Given the description of an element on the screen output the (x, y) to click on. 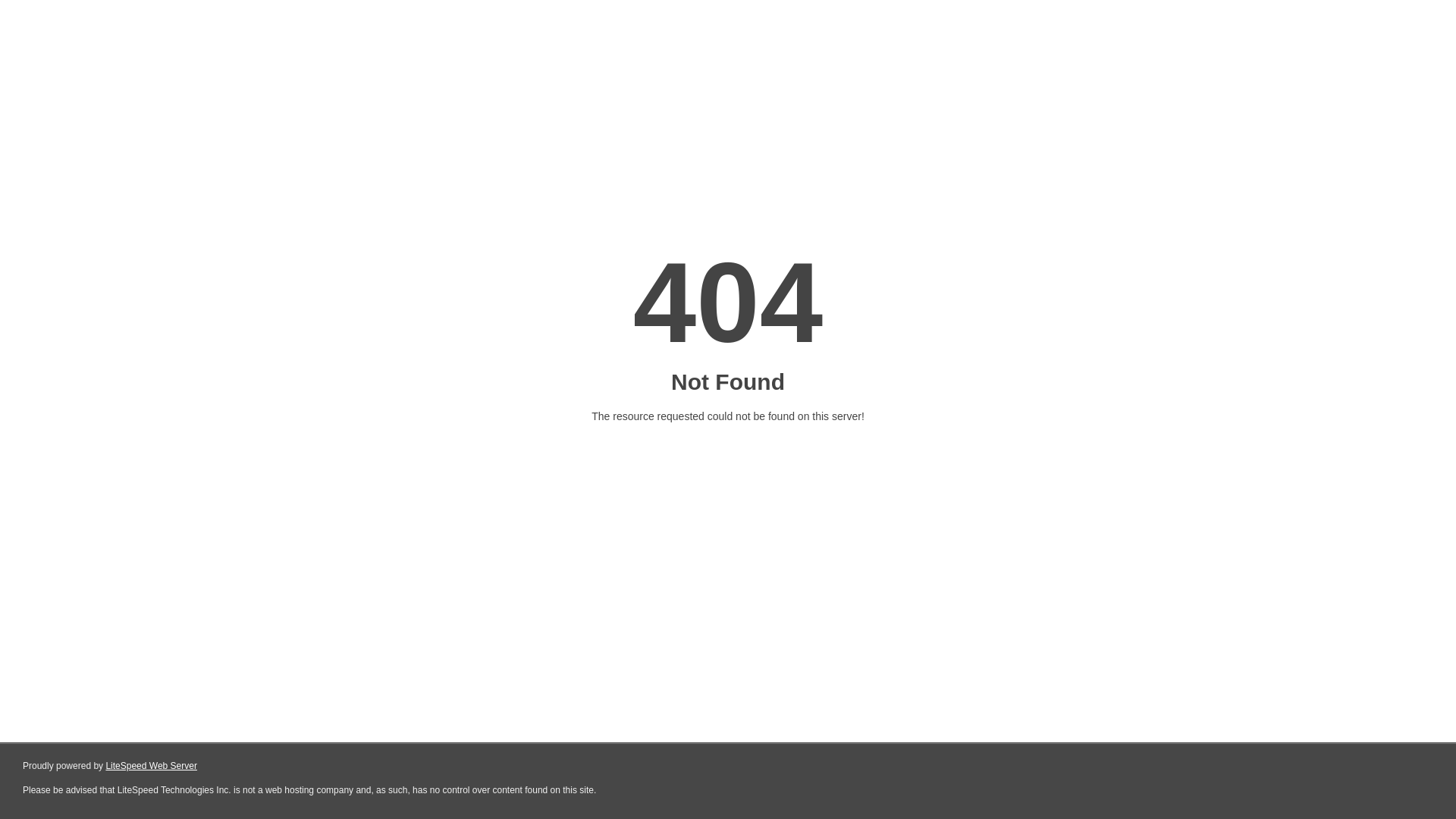
LiteSpeed Web Server Element type: text (151, 765)
